Given the description of an element on the screen output the (x, y) to click on. 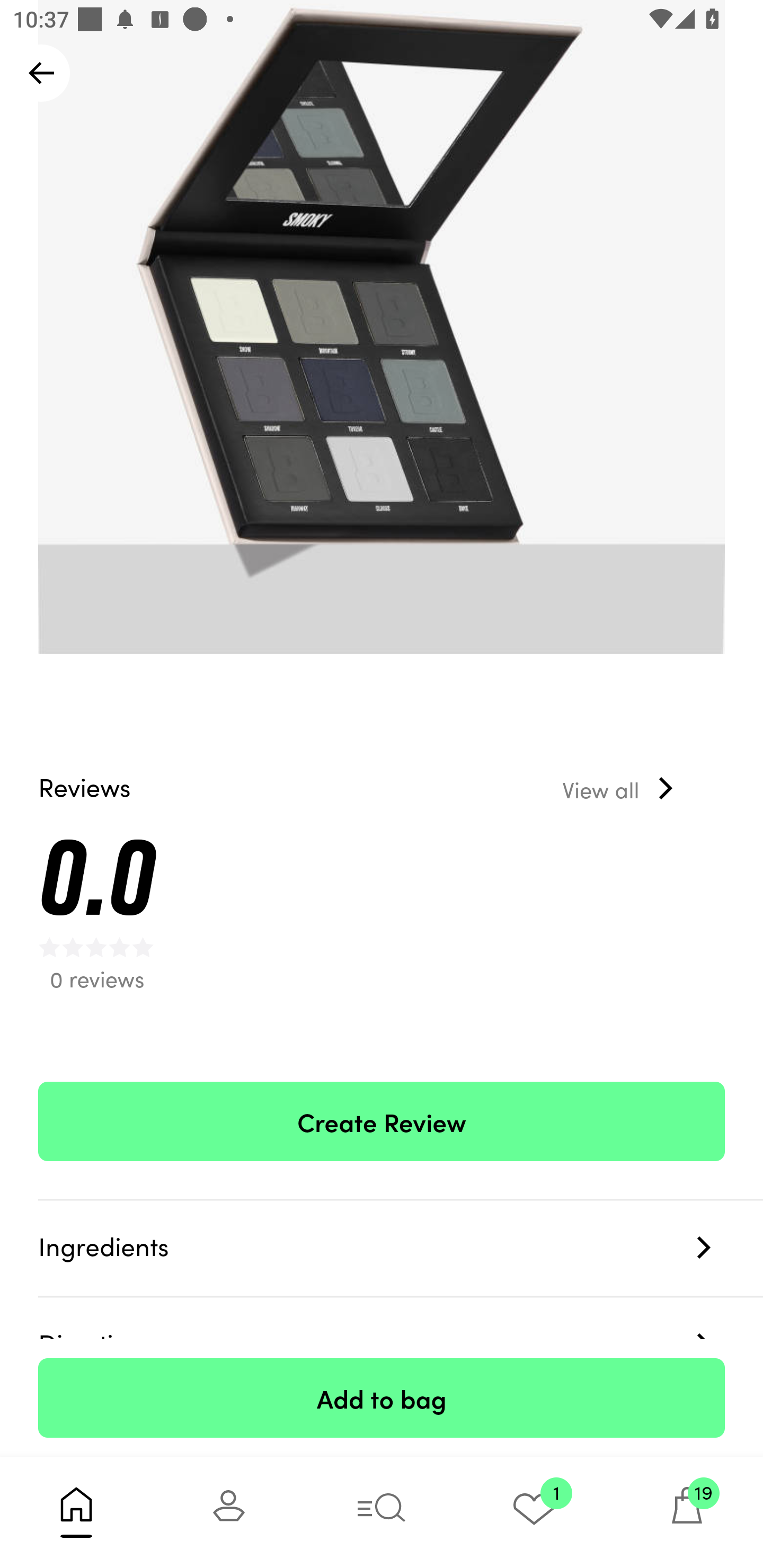
Reviews View all 0.0  0 reviews (381, 896)
Create Review (381, 1121)
Ingredients  (400, 1248)
Add to bag (381, 1397)
1 (533, 1512)
19 (686, 1512)
